Given the description of an element on the screen output the (x, y) to click on. 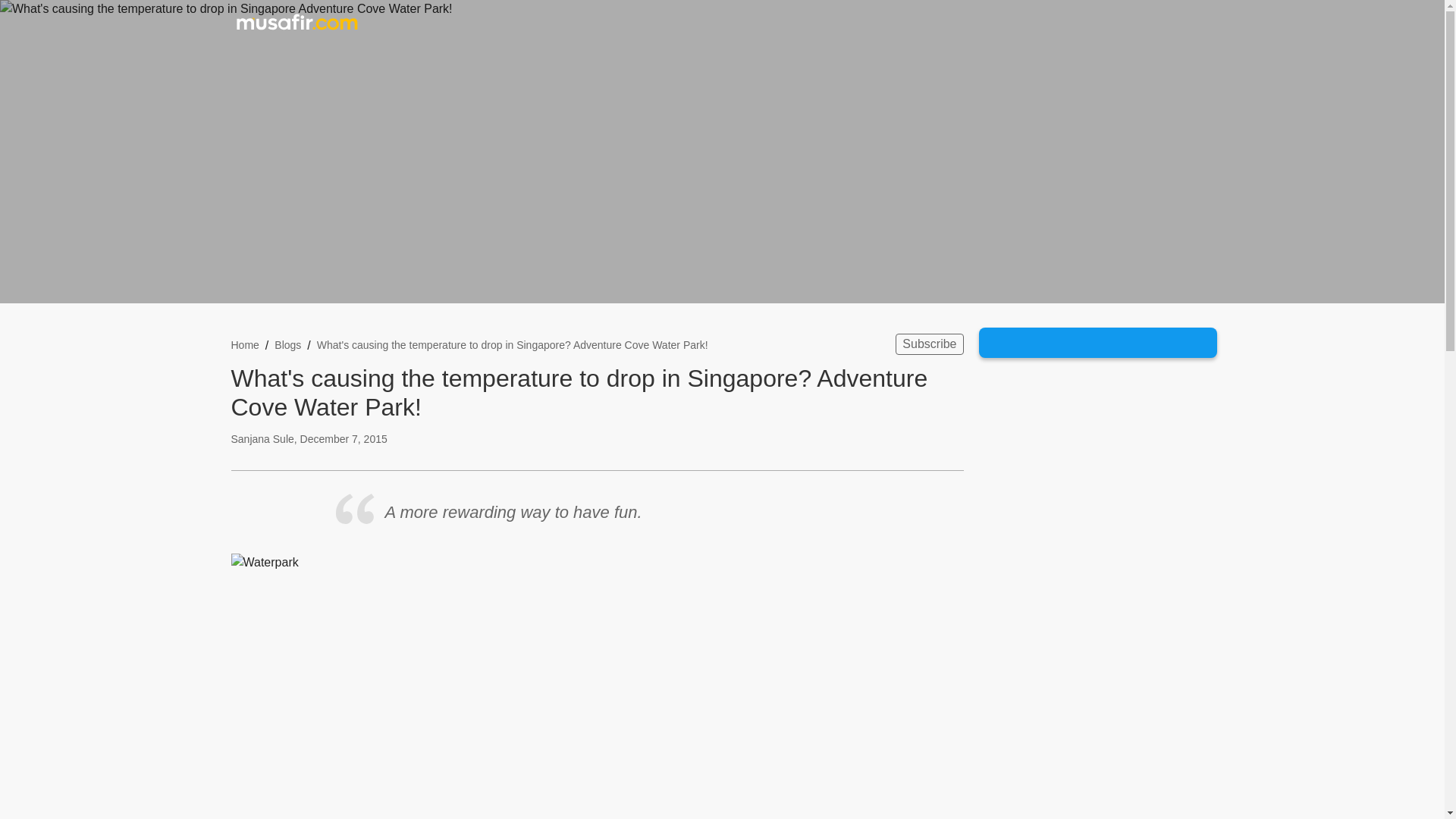
Blogs (288, 344)
Home (244, 344)
Subscribe (928, 343)
